Given the description of an element on the screen output the (x, y) to click on. 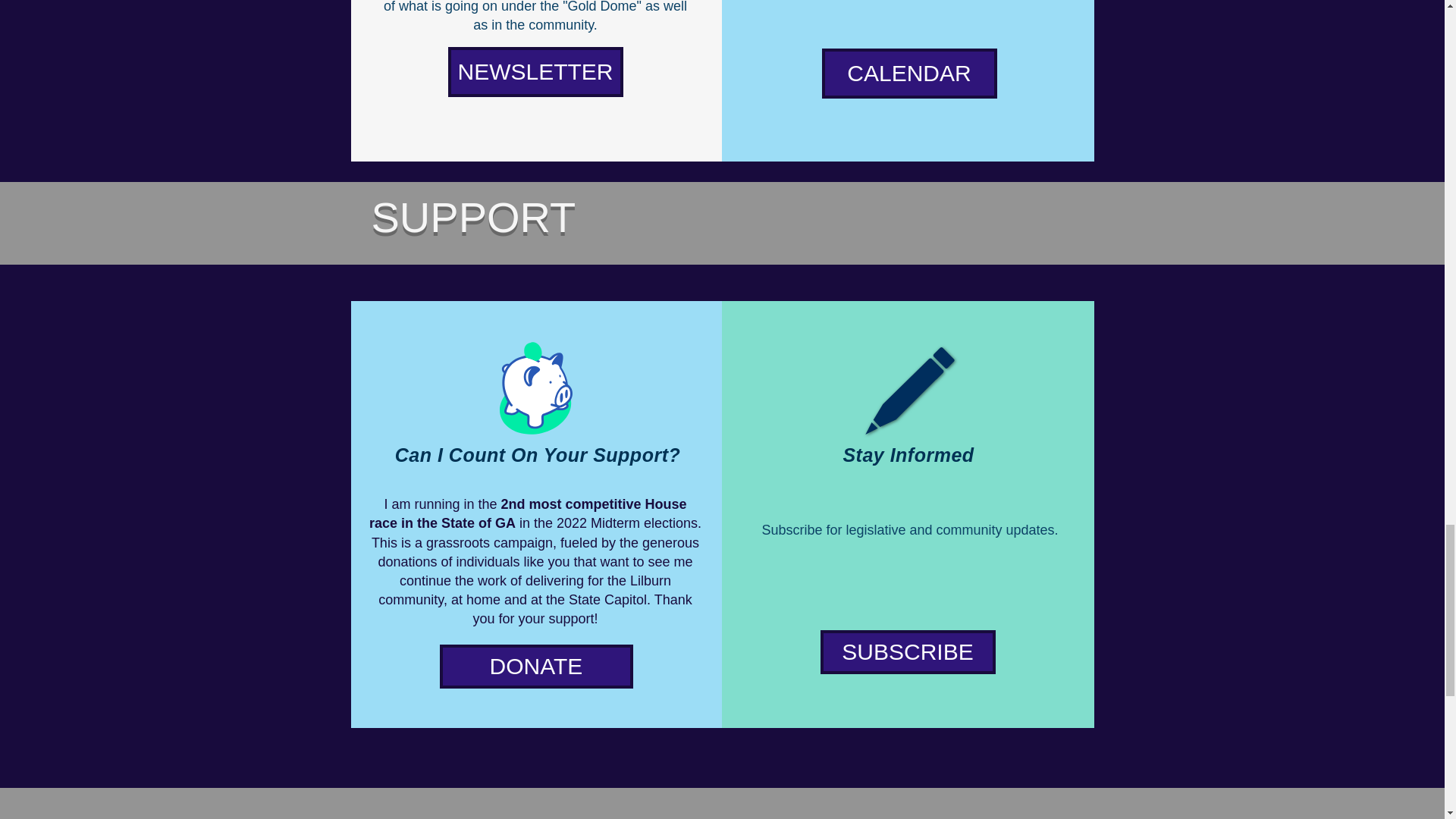
NEWSLETTER (534, 71)
CALENDAR (909, 73)
DONATE (536, 666)
SUBSCRIBE (908, 651)
